Given the description of an element on the screen output the (x, y) to click on. 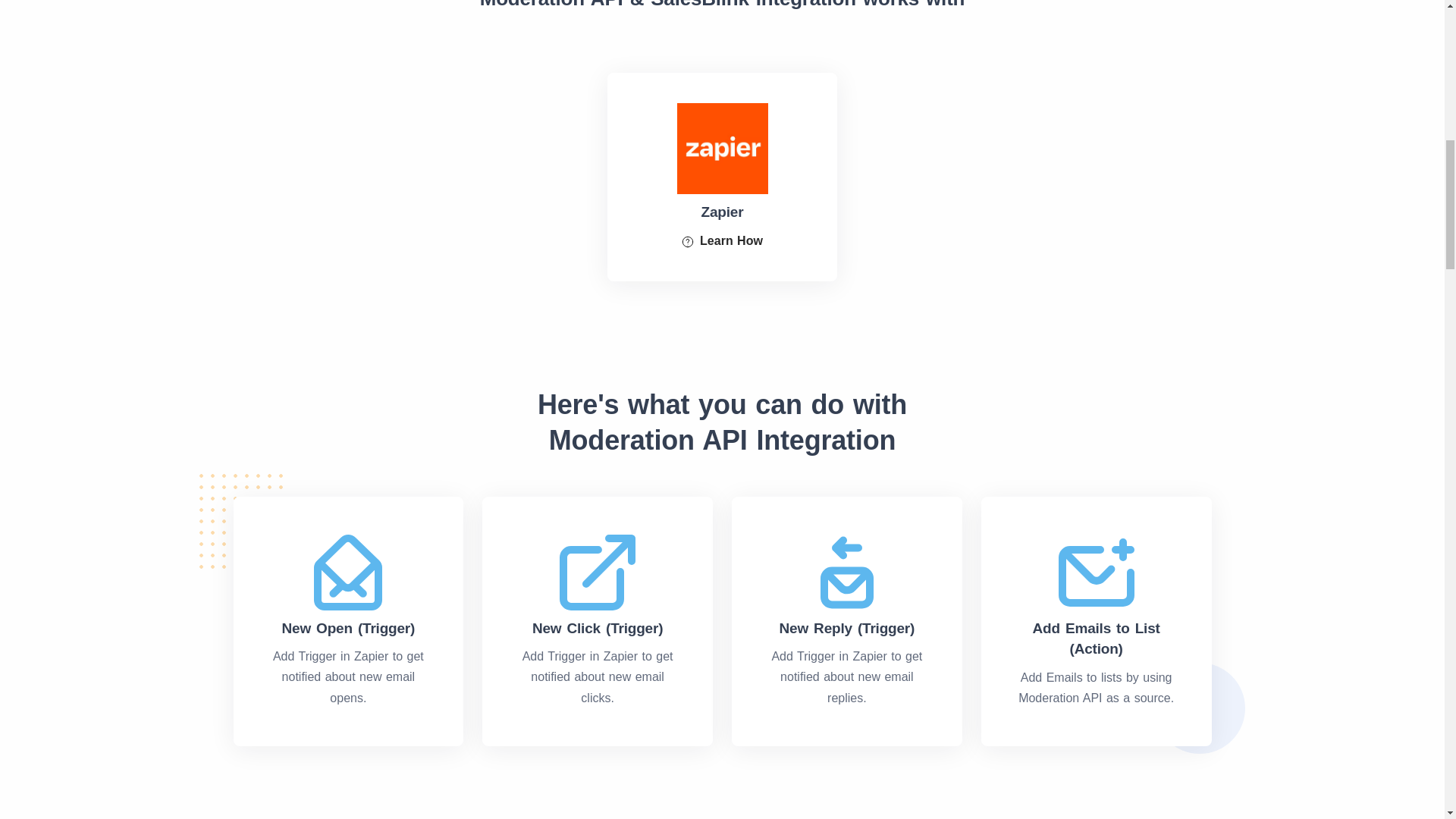
Learn How (721, 240)
Zapier (722, 193)
